Given the description of an element on the screen output the (x, y) to click on. 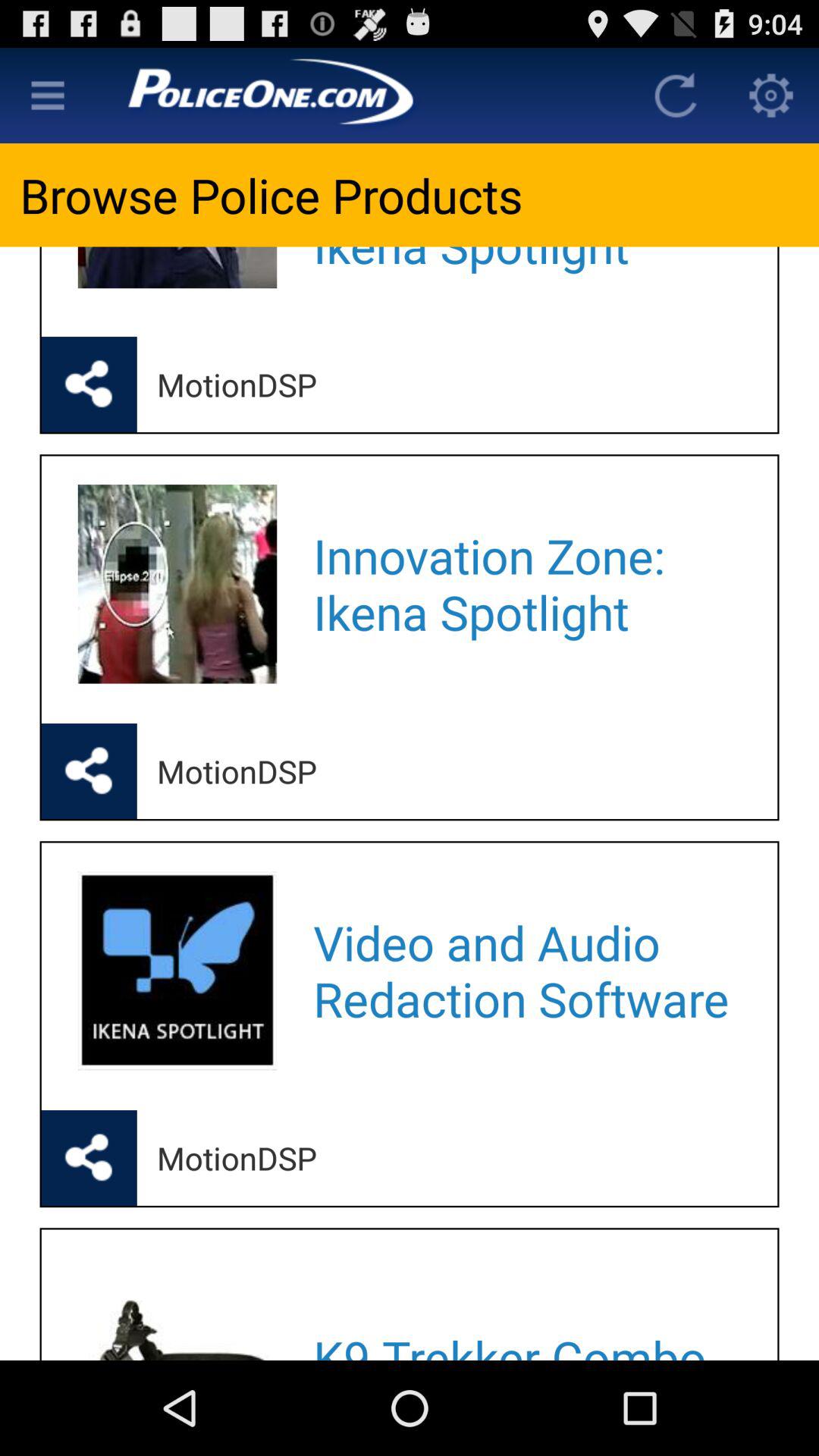
display settings (771, 95)
